Given the description of an element on the screen output the (x, y) to click on. 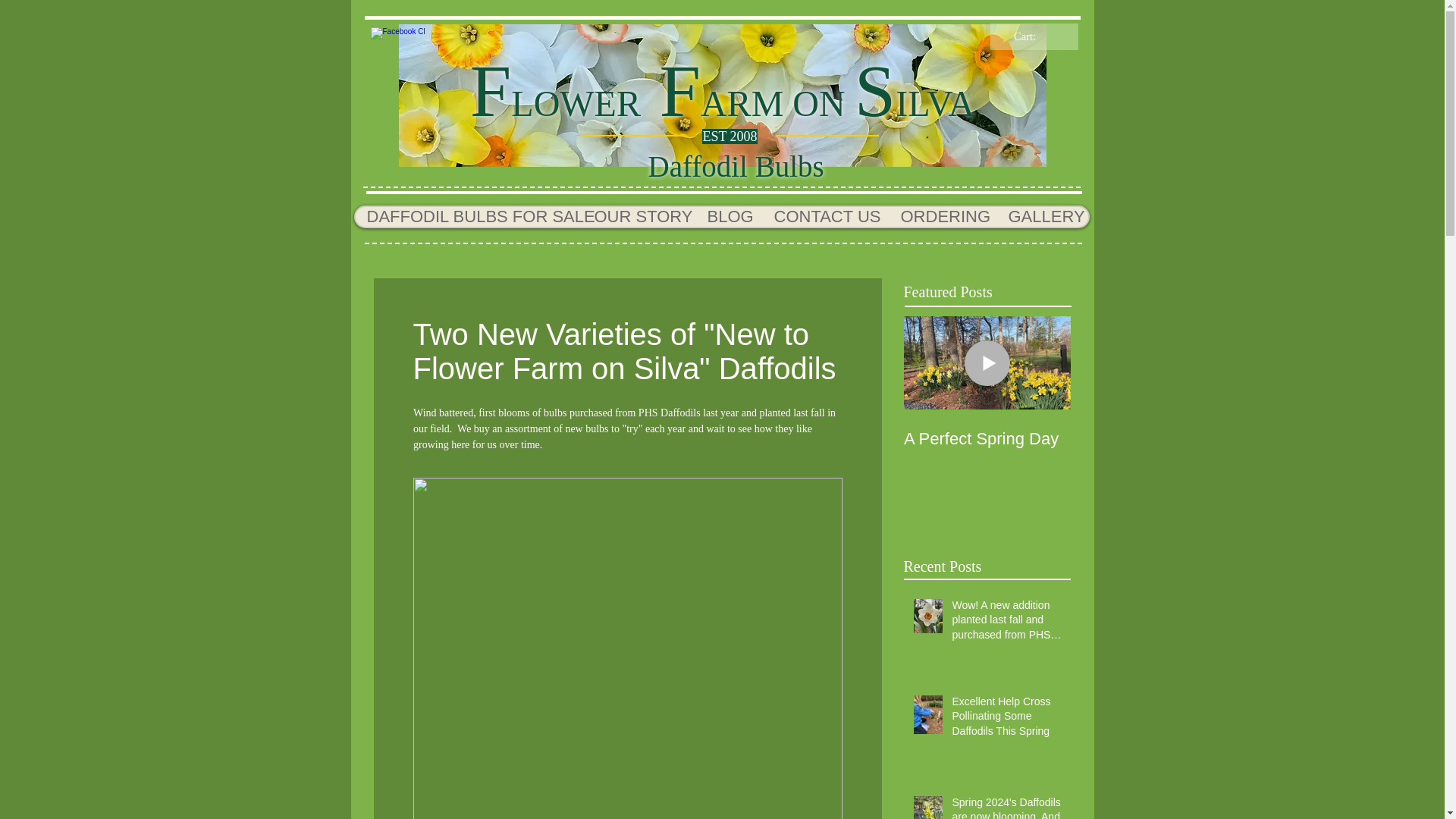
Excellent Help Cross Pollinating Some Daffodils This Spring (1006, 719)
A Perfect Spring Day (987, 438)
BLOG (727, 216)
Cart: (1034, 36)
DAFFODIL BULBS FOR SALE (467, 216)
Cart: (1034, 36)
ORDERING (941, 216)
GALLERY (1039, 216)
